Given the description of an element on the screen output the (x, y) to click on. 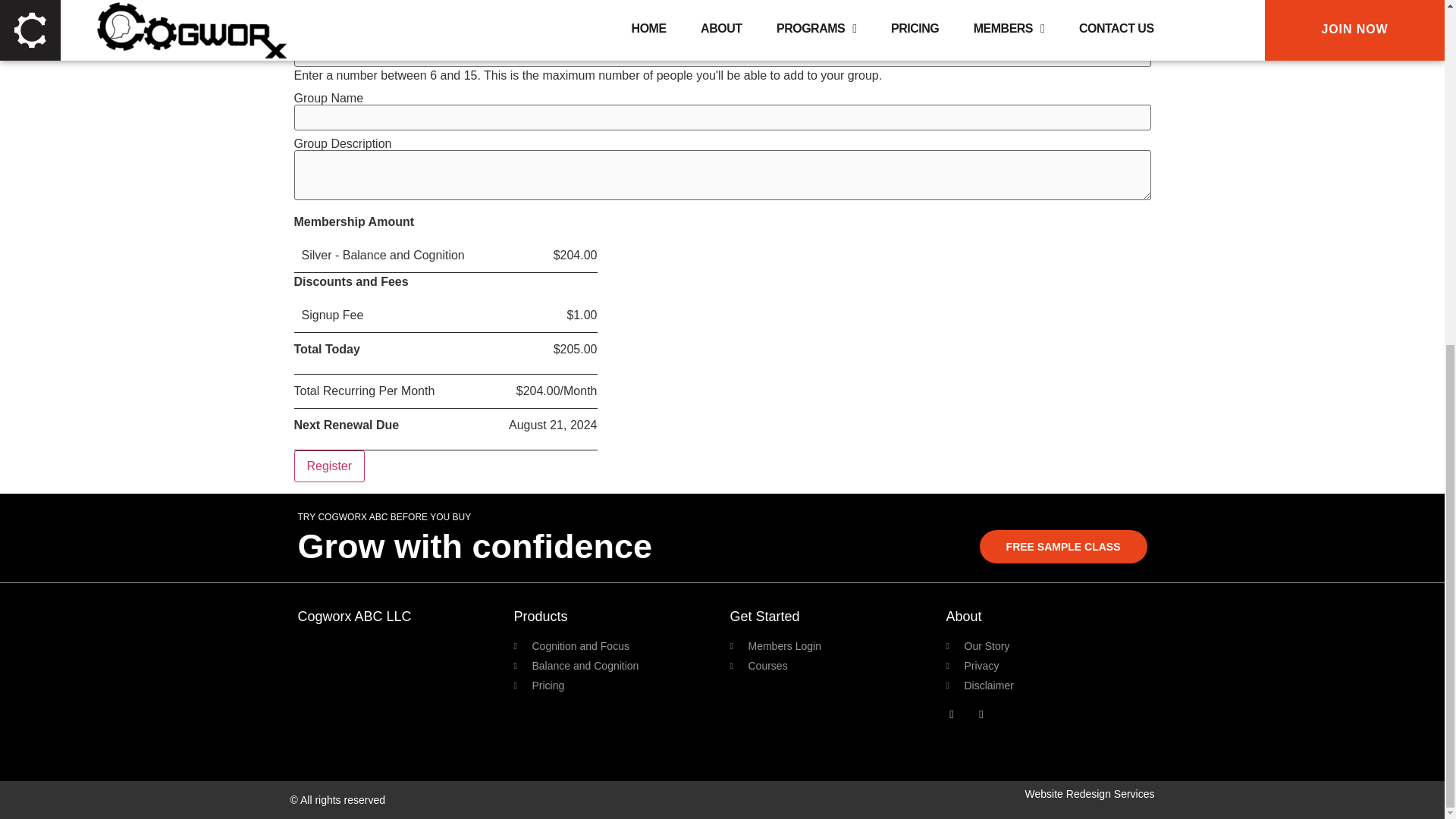
Register (329, 466)
1 (722, 50)
